Given the description of an element on the screen output the (x, y) to click on. 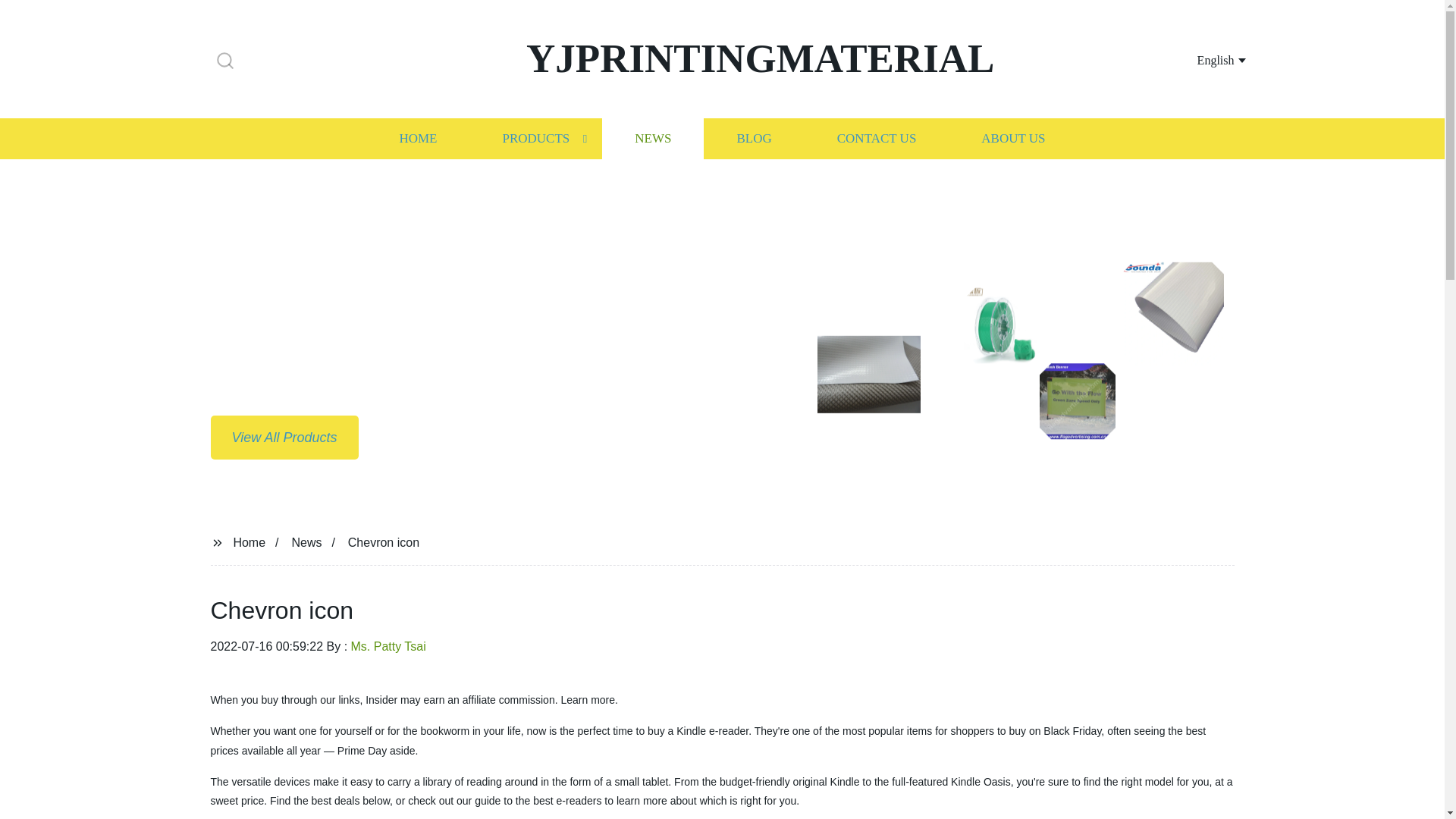
ABOUT US (1013, 137)
English (1203, 59)
HOME (417, 137)
CONTACT US (877, 137)
Home (248, 541)
News (306, 541)
NEWS (652, 137)
PRODUCTS (535, 137)
English (1203, 59)
